Given the description of an element on the screen output the (x, y) to click on. 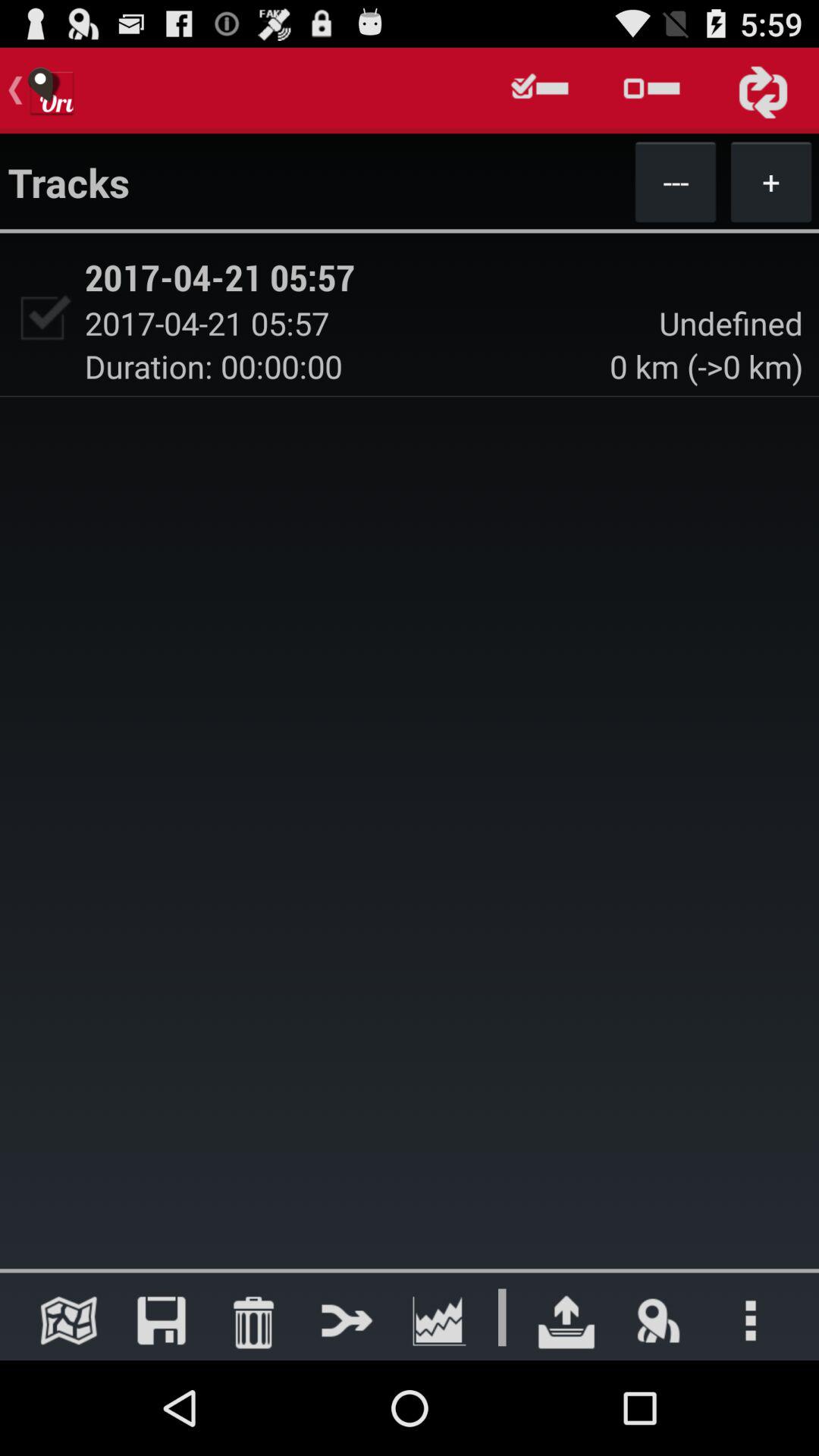
tap + (771, 181)
